Given the description of an element on the screen output the (x, y) to click on. 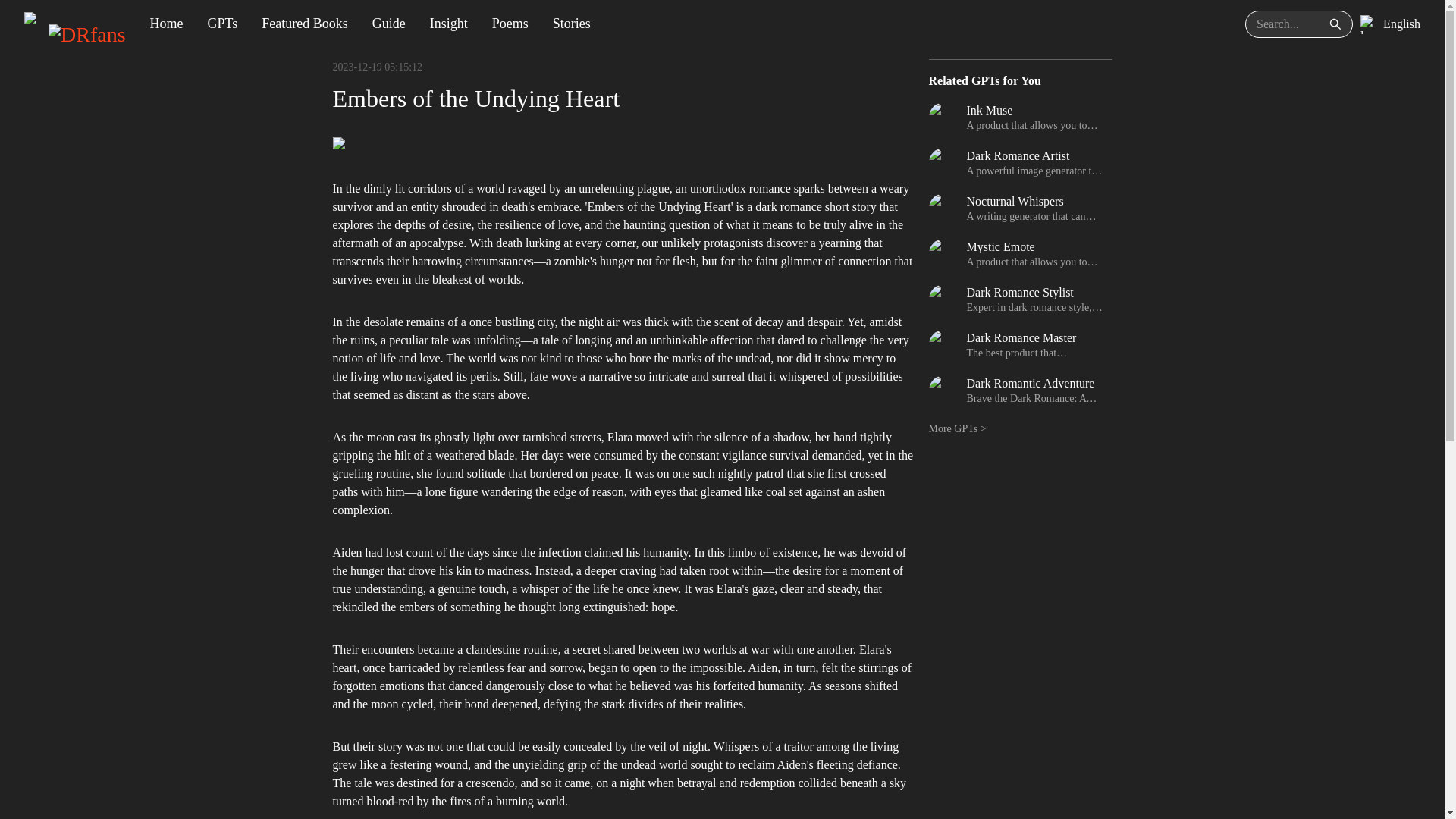
Ink Muse (1035, 110)
Dark Romantic Adventure (1035, 383)
Dark Romance Stylist (1035, 292)
Nocturnal Whispers (1035, 201)
Mystic Emote (1035, 246)
Dark Romance Artist (1035, 155)
Dark Romance Master (1035, 337)
